Given the description of an element on the screen output the (x, y) to click on. 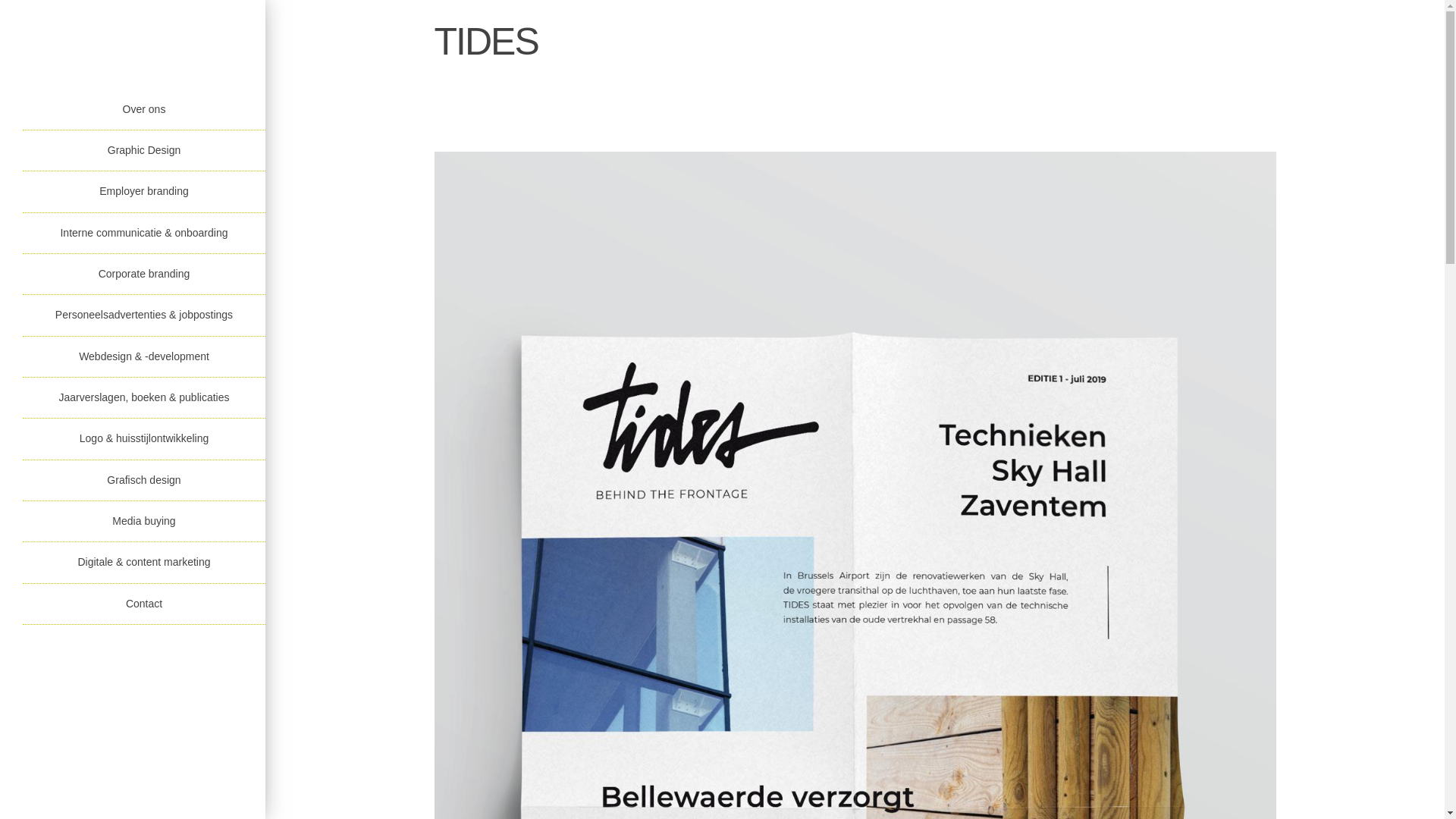
Media buying Element type: text (143, 521)
Graphic Design Element type: text (143, 150)
Digitale & content marketing Element type: text (143, 562)
Interne communicatie & onboarding Element type: text (143, 233)
Grafisch design Element type: text (143, 480)
Personeelsadvertenties & jobpostings Element type: text (143, 314)
Webdesign & -development Element type: text (143, 356)
Over ons Element type: text (143, 109)
Employer branding Element type: text (143, 191)
Corporate branding Element type: text (143, 274)
Logo & huisstijlontwikkeling Element type: text (143, 438)
Jaarverslagen, boeken & publicaties Element type: text (143, 397)
Contact Element type: text (143, 603)
